Given the description of an element on the screen output the (x, y) to click on. 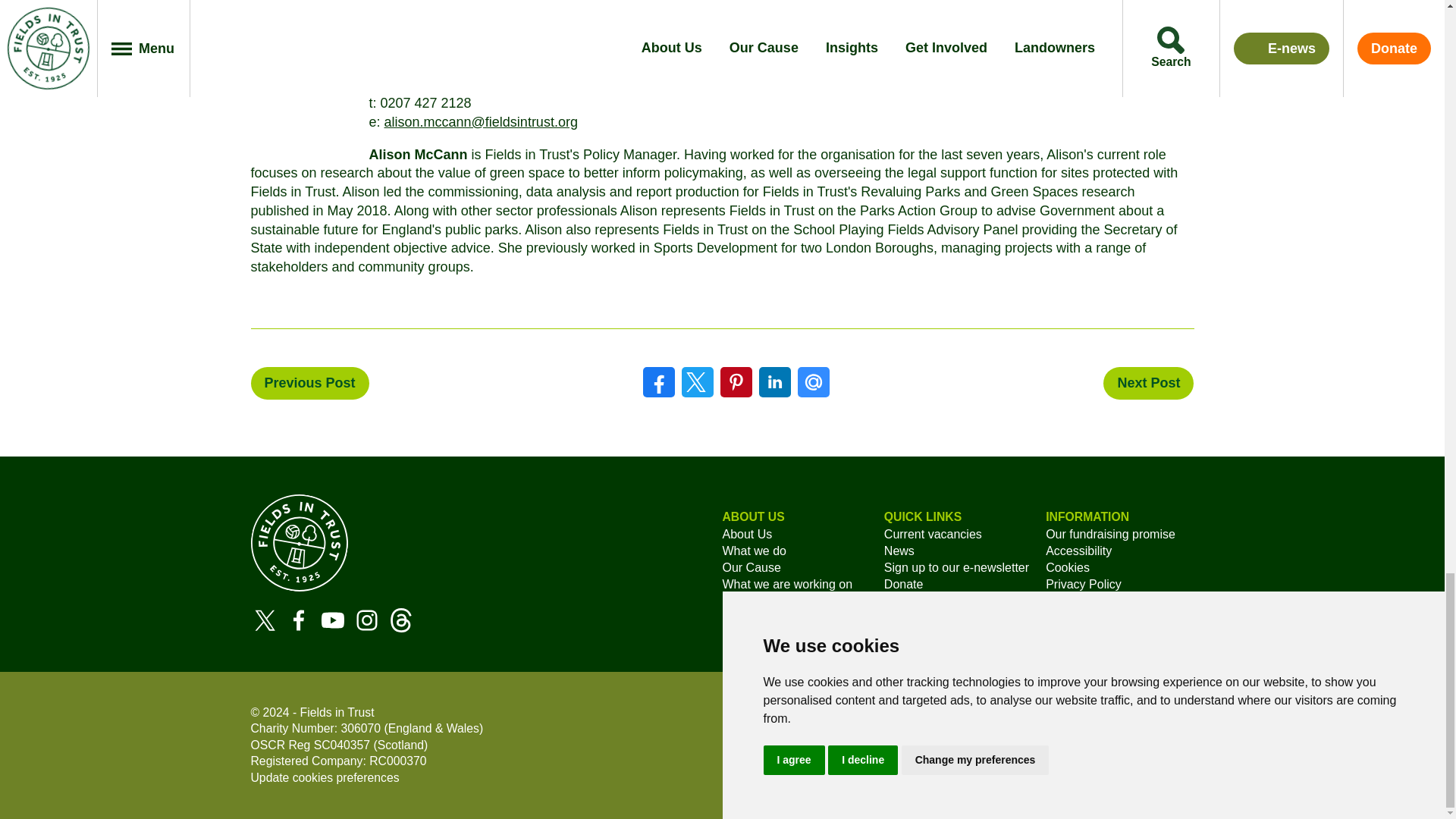
The Scottish Charity Regulator (267, 744)
